Given the description of an element on the screen output the (x, y) to click on. 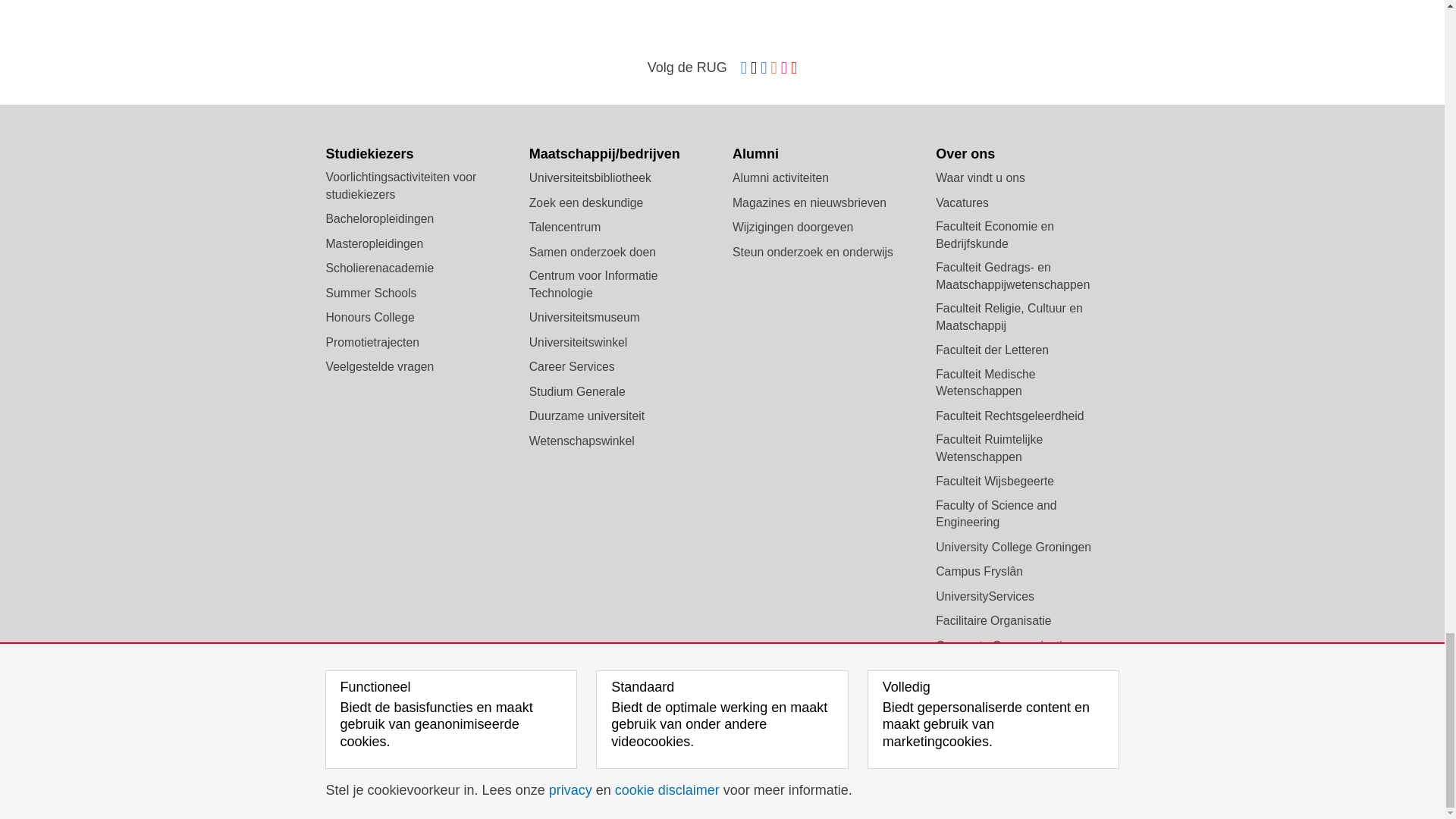
facebook (743, 67)
linkedin (763, 67)
instagram (783, 67)
youtube (793, 67)
rss (774, 67)
twitter (754, 67)
